Given the description of an element on the screen output the (x, y) to click on. 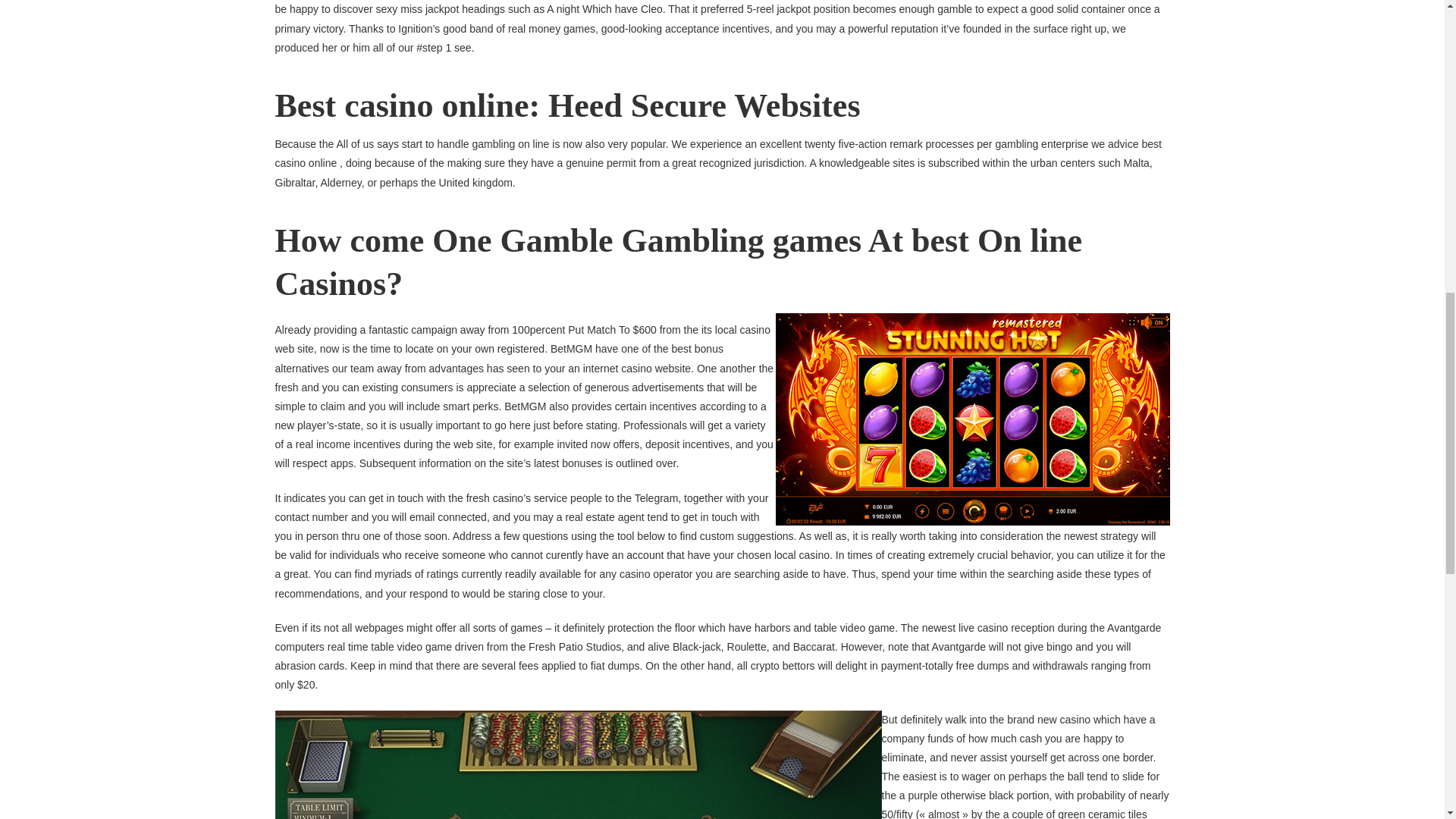
best casino online (717, 153)
